Given the description of an element on the screen output the (x, y) to click on. 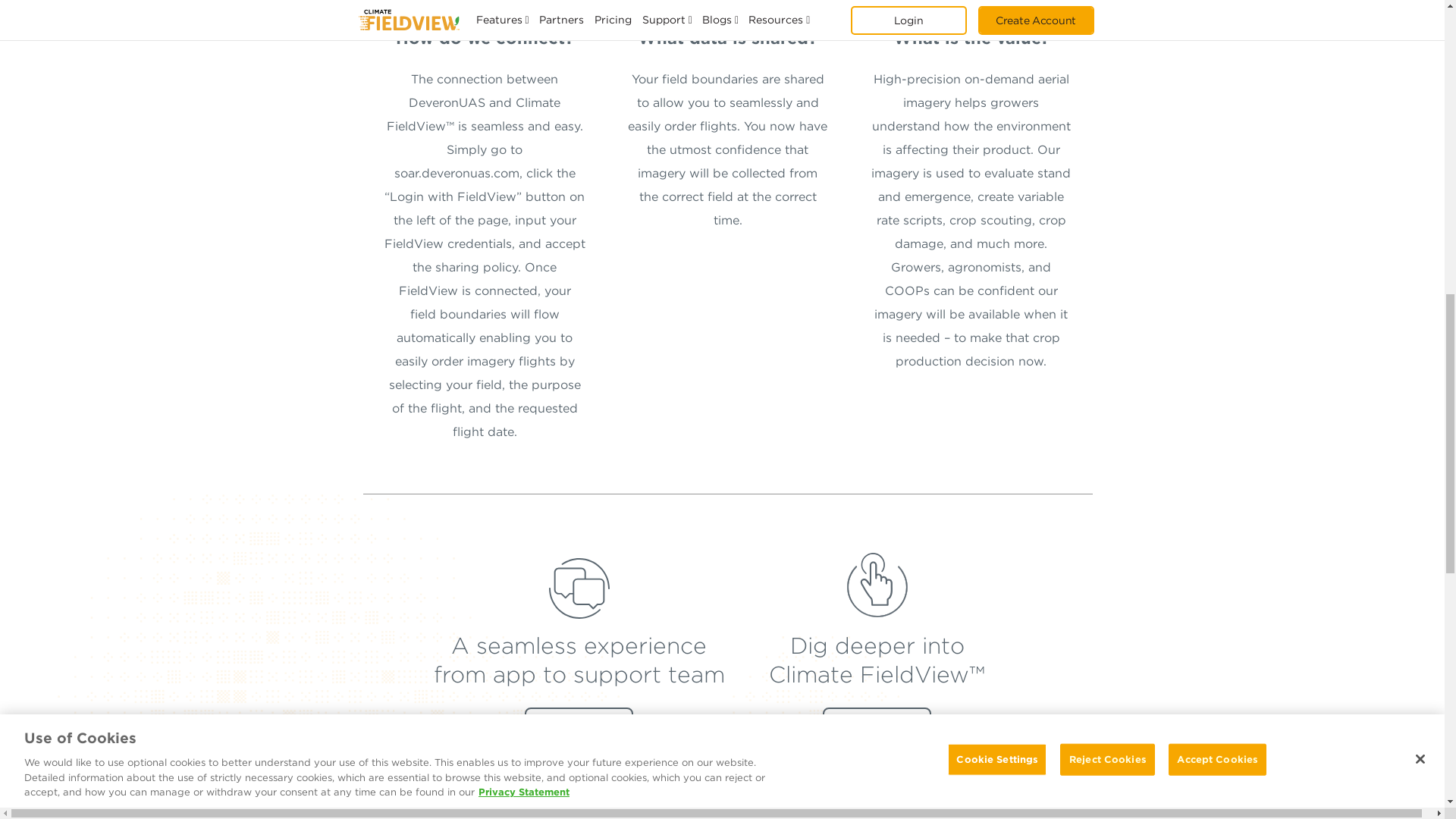
View Blog (876, 724)
Get Support (578, 724)
